Given the description of an element on the screen output the (x, y) to click on. 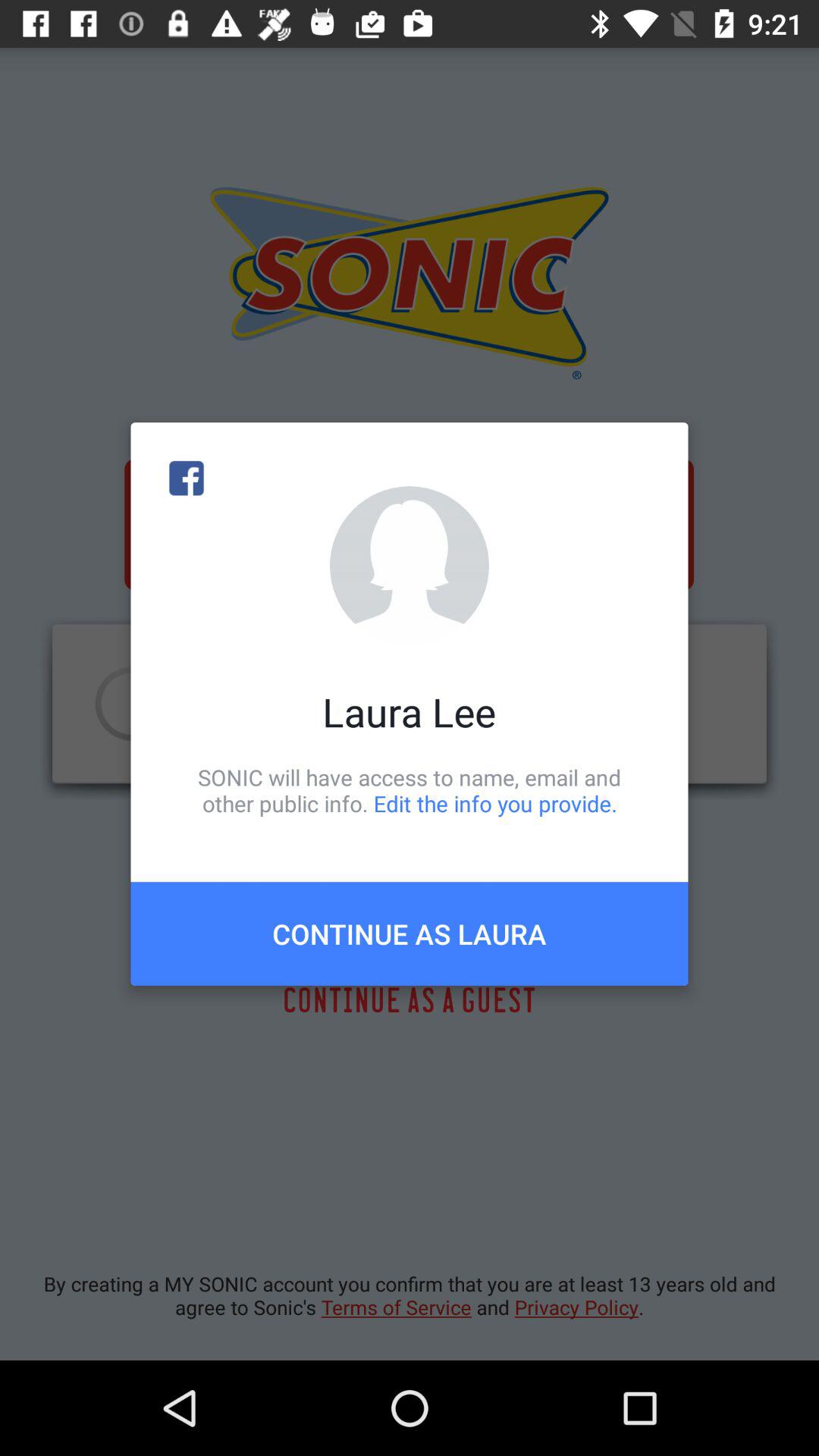
choose the continue as laura item (409, 933)
